Given the description of an element on the screen output the (x, y) to click on. 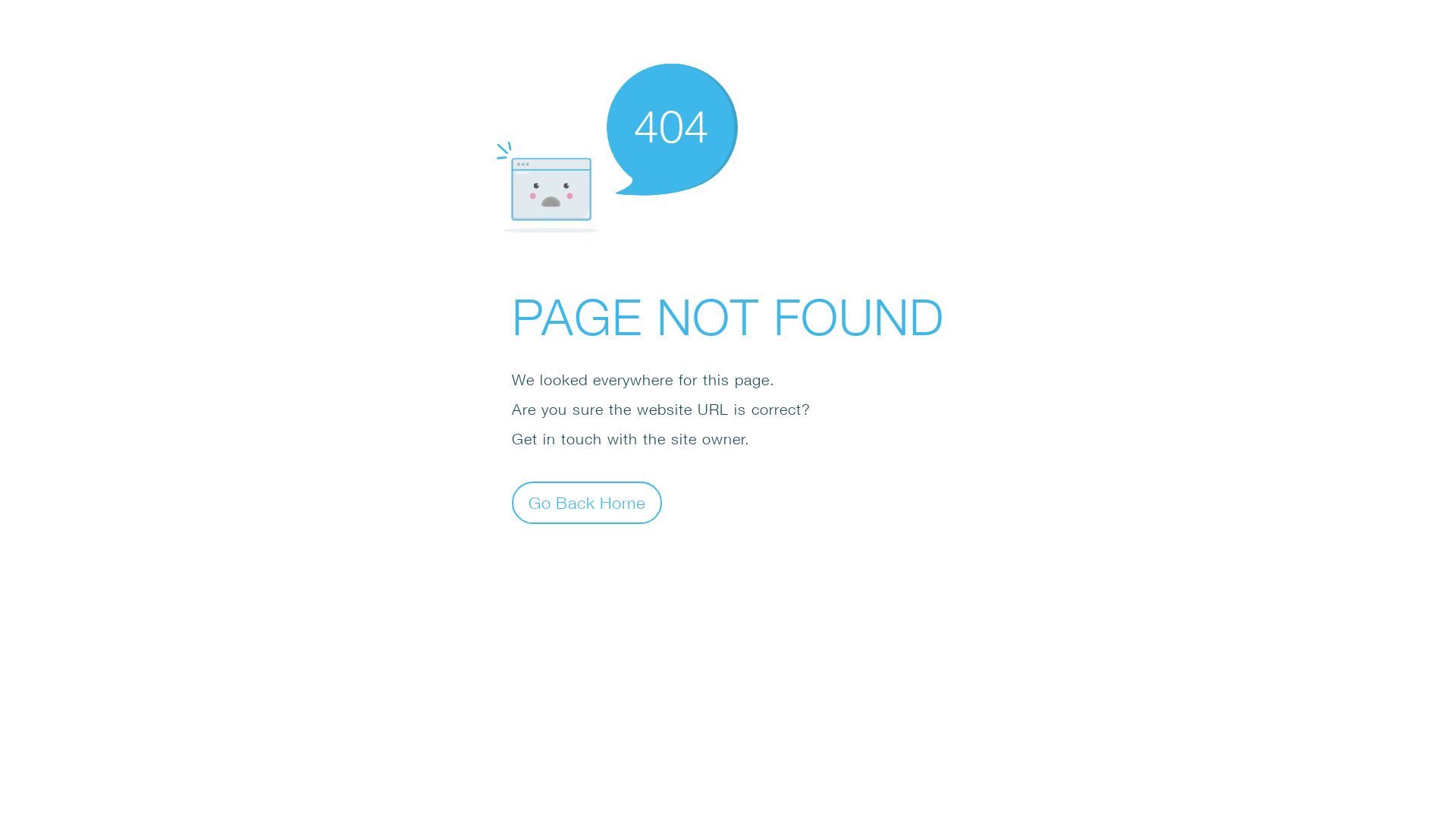
Go Back Home Element type: text (586, 502)
